Given the description of an element on the screen output the (x, y) to click on. 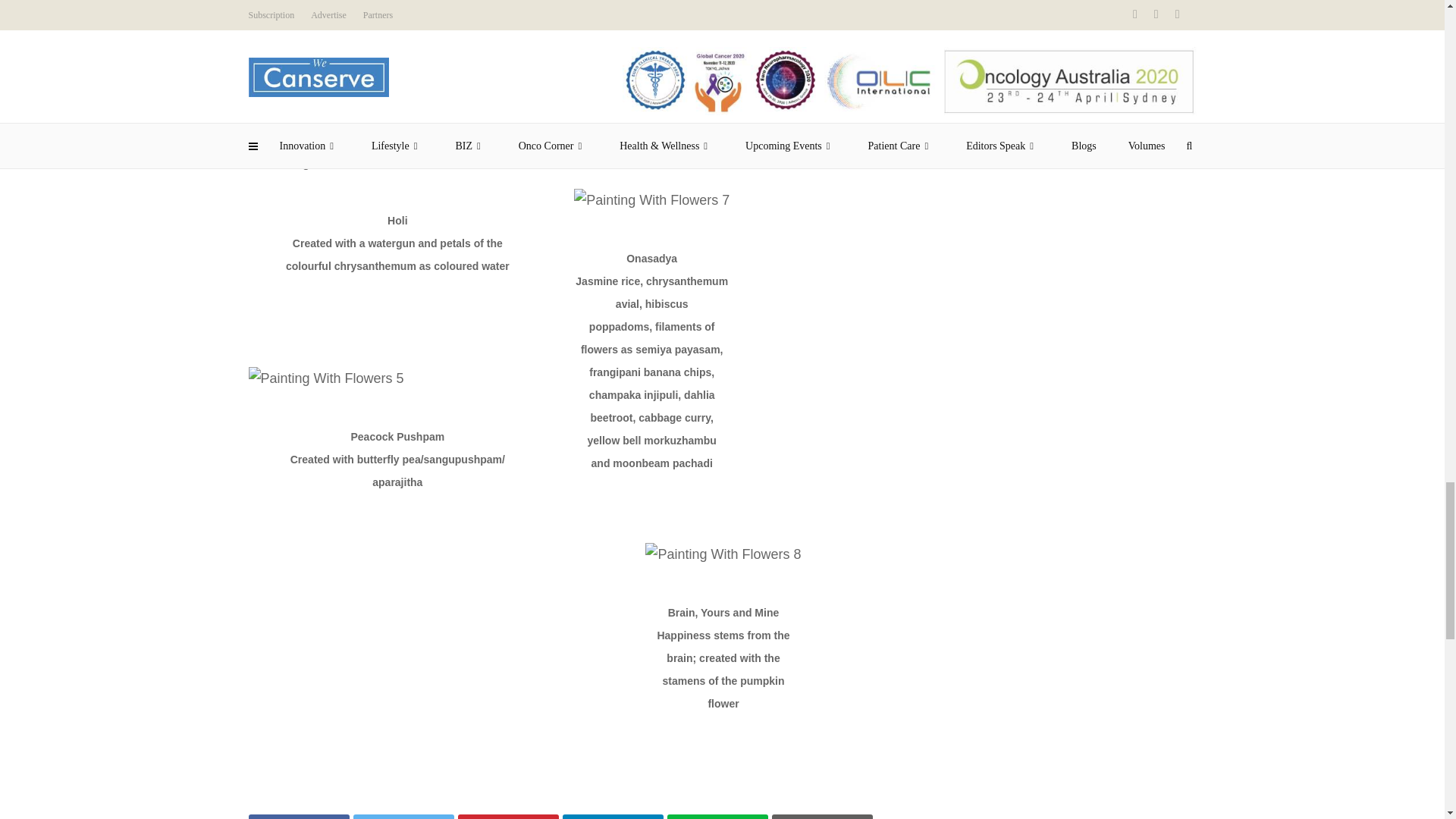
Painting With Flowers 8 (722, 553)
Painting With Flowers 7 (651, 200)
Painting With Flowers 5 (326, 377)
Painting With Flowers 4 (326, 161)
